Given the description of an element on the screen output the (x, y) to click on. 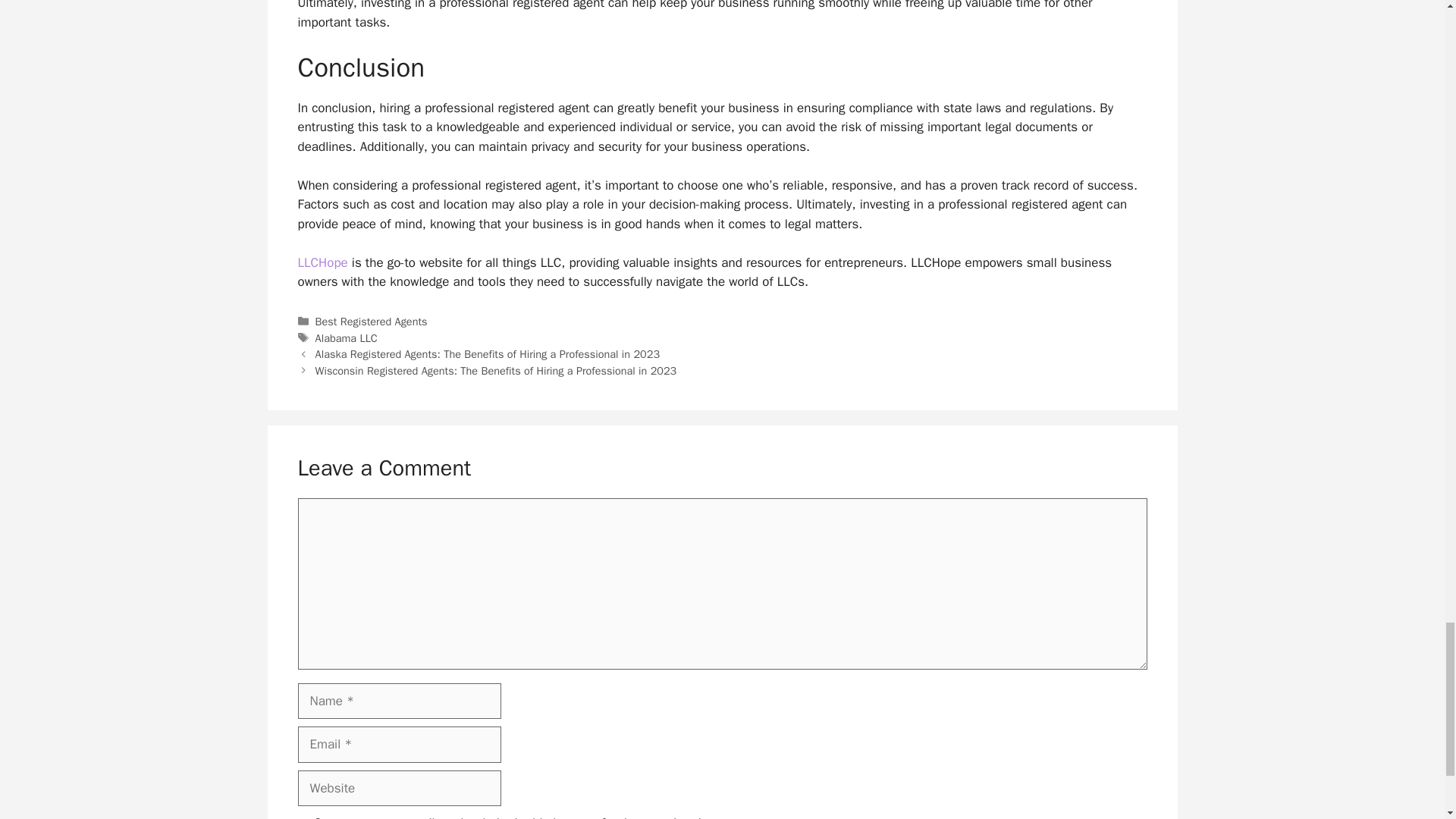
Best Registered Agents (371, 321)
LLCHope (322, 262)
LLCHope (322, 262)
